Given the description of an element on the screen output the (x, y) to click on. 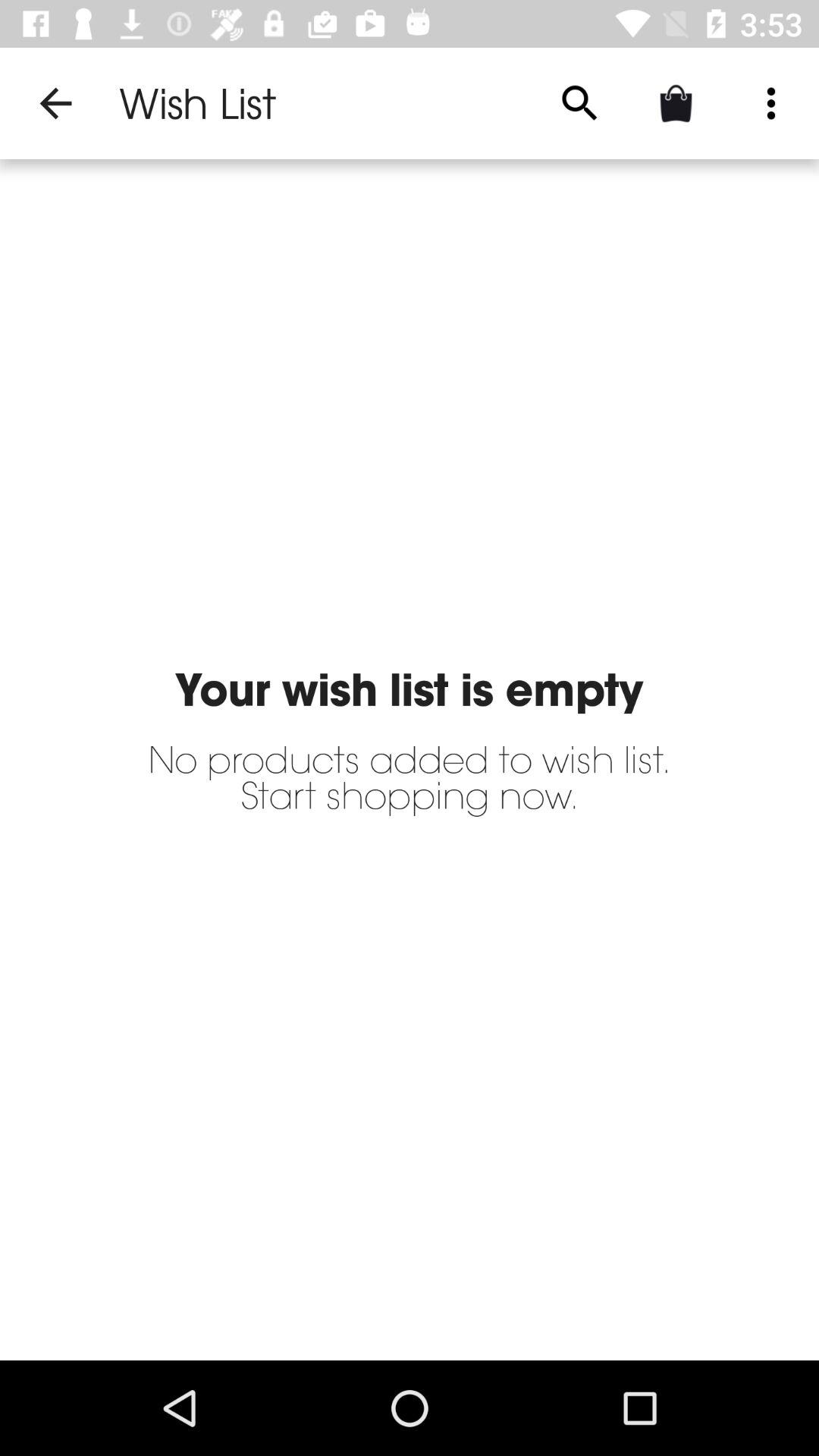
launch icon above the your wish list icon (55, 103)
